Given the description of an element on the screen output the (x, y) to click on. 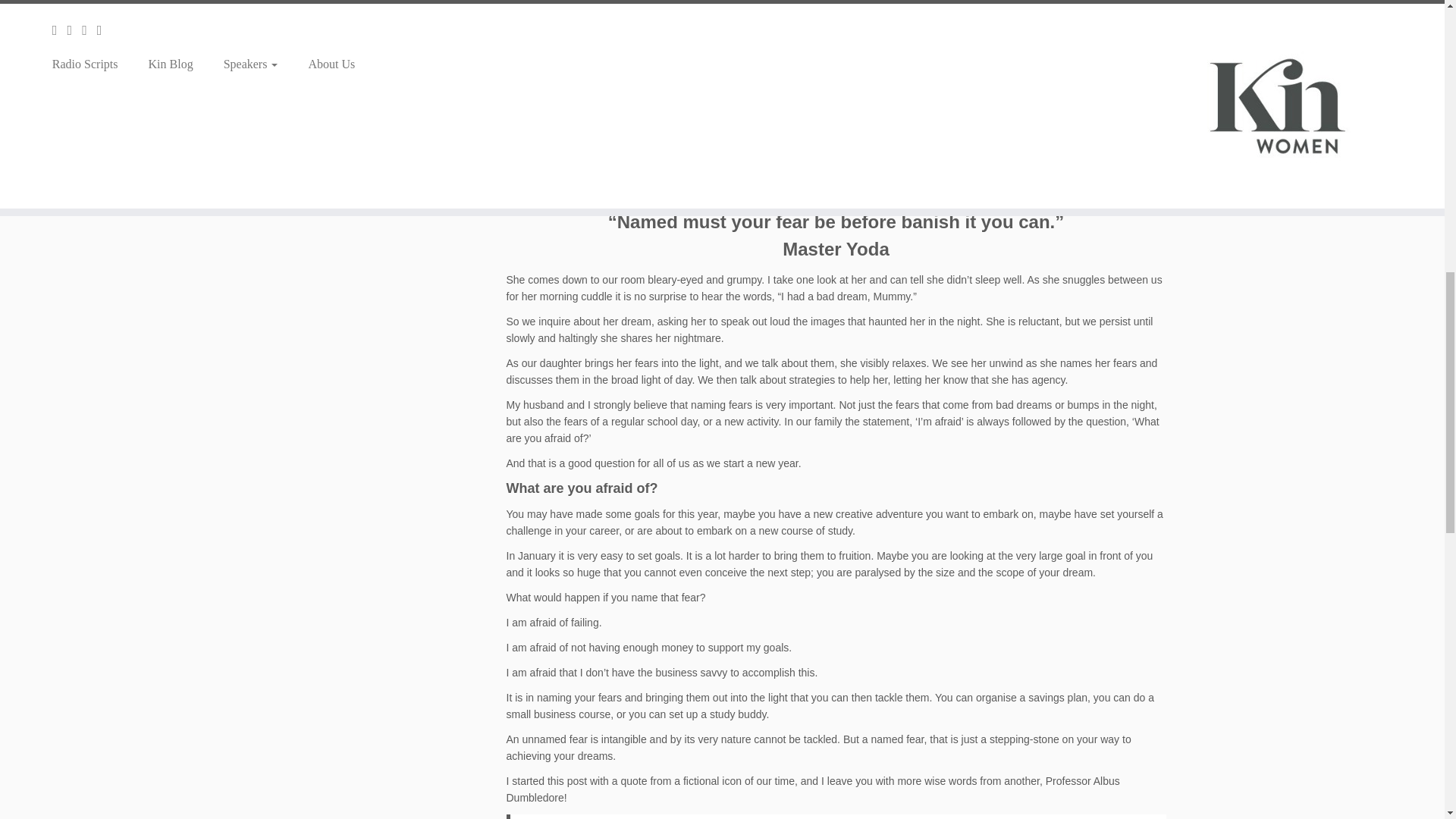
kinwomen (836, 99)
